Given the description of an element on the screen output the (x, y) to click on. 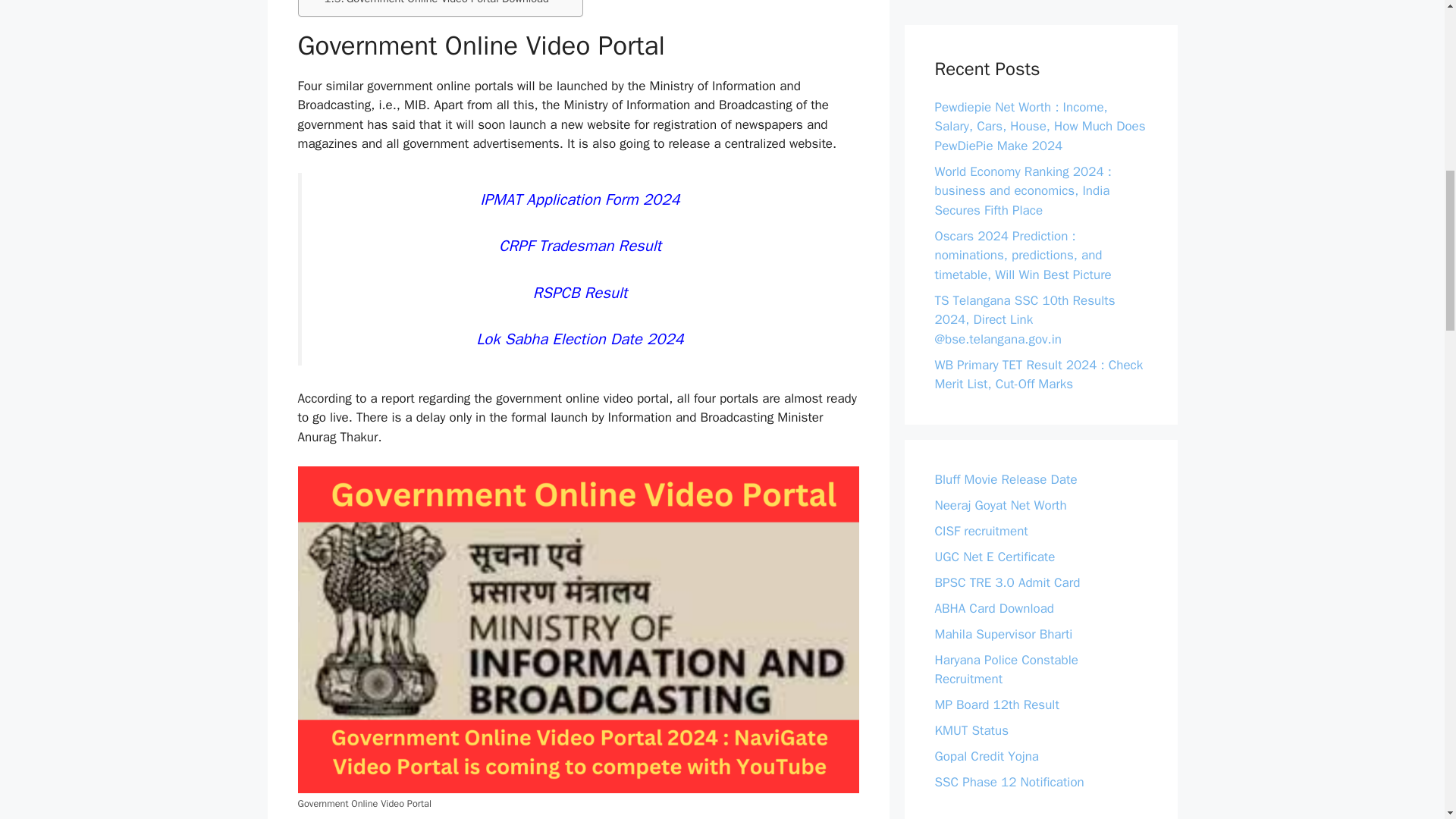
IPMAT Application Form 2024 (579, 199)
Government Online Video Portal Download (436, 3)
RSPCB Result (579, 292)
Lok Sabha Election Date 2024 (580, 338)
Government Online Video Portal Download (436, 3)
CRPF Tradesman Result (580, 245)
